Given the description of an element on the screen output the (x, y) to click on. 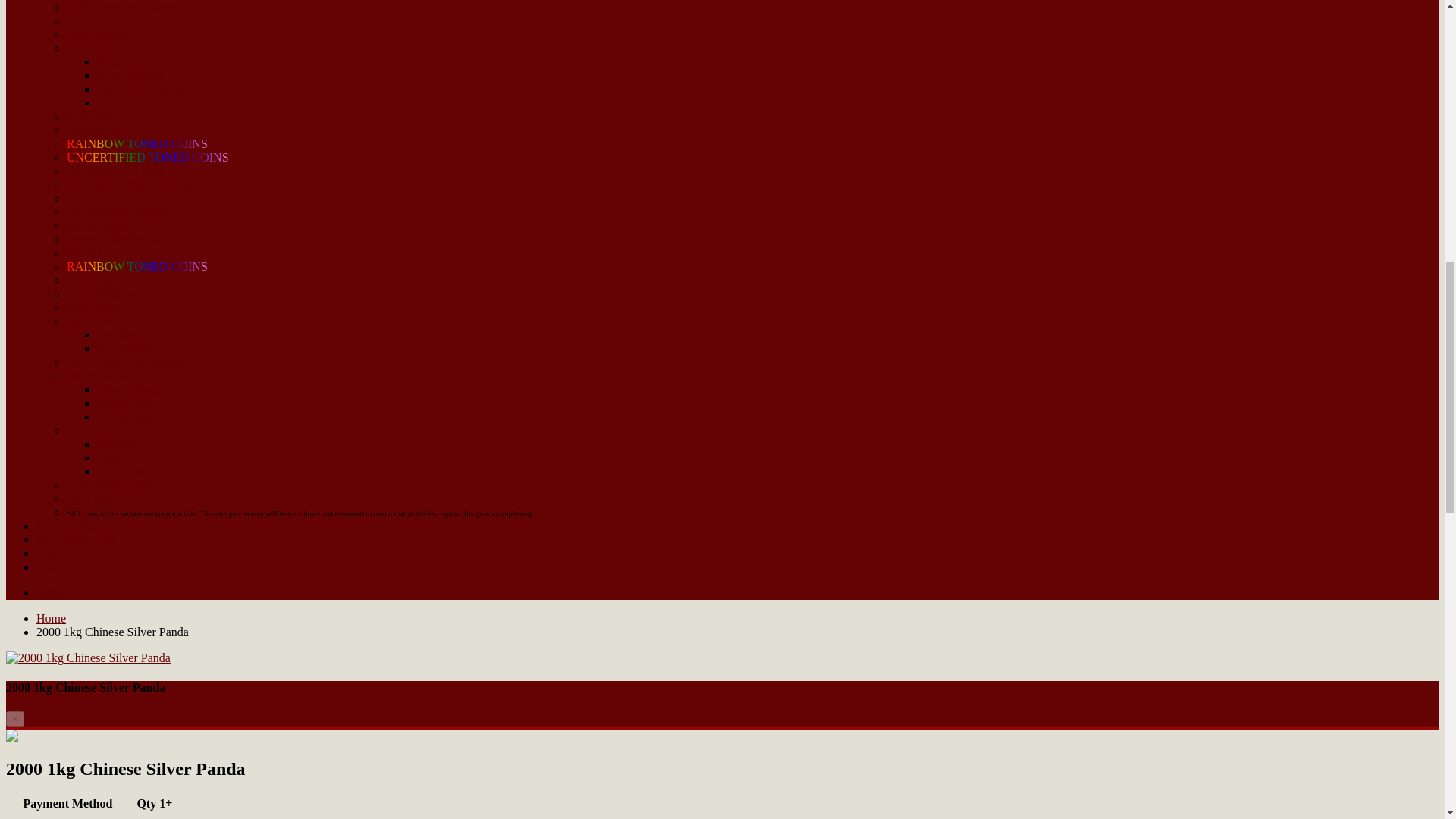
Half Dimes and Dimes (121, 6)
